Given the description of an element on the screen output the (x, y) to click on. 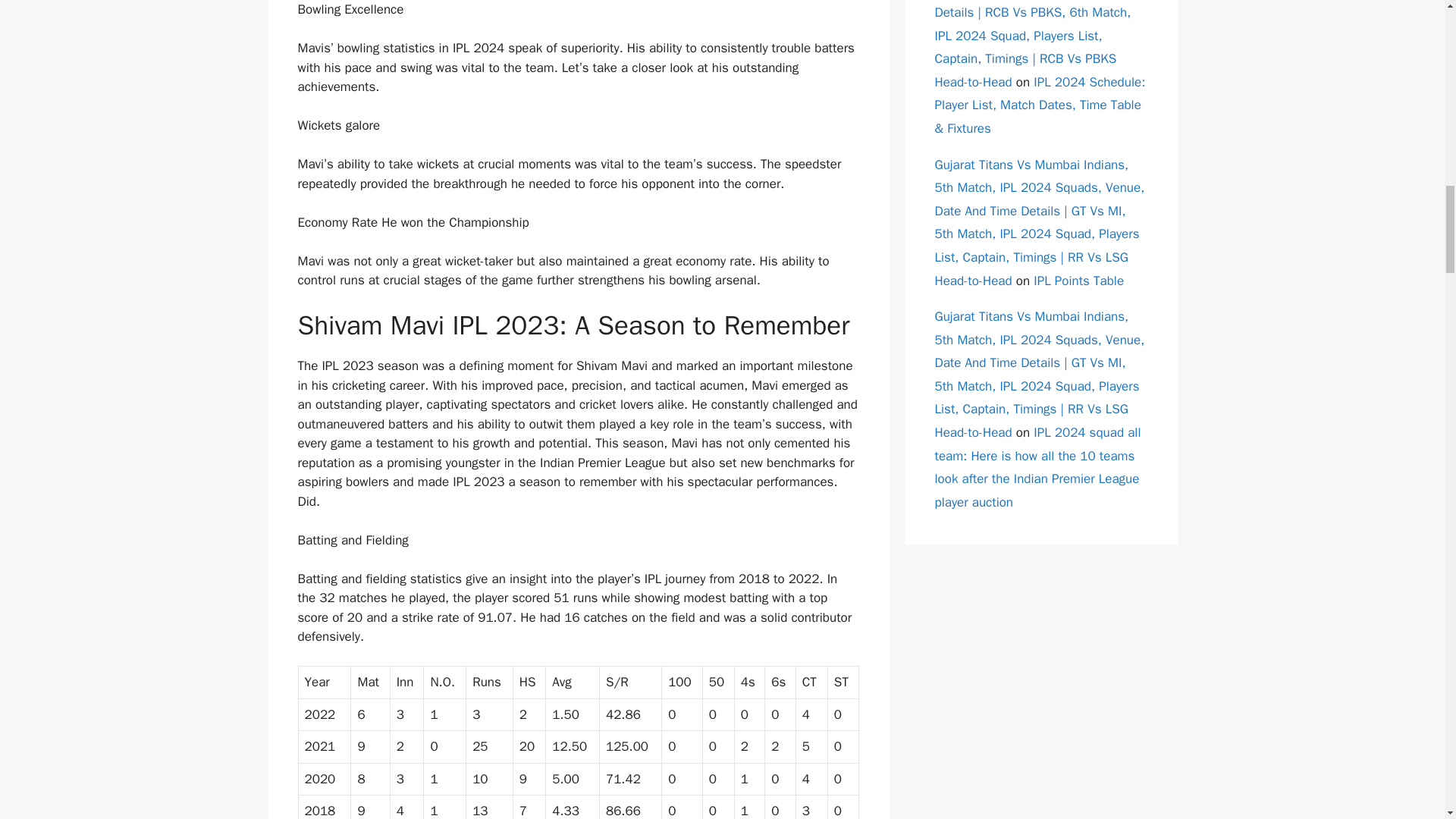
IPL Points Table (1078, 280)
